Given the description of an element on the screen output the (x, y) to click on. 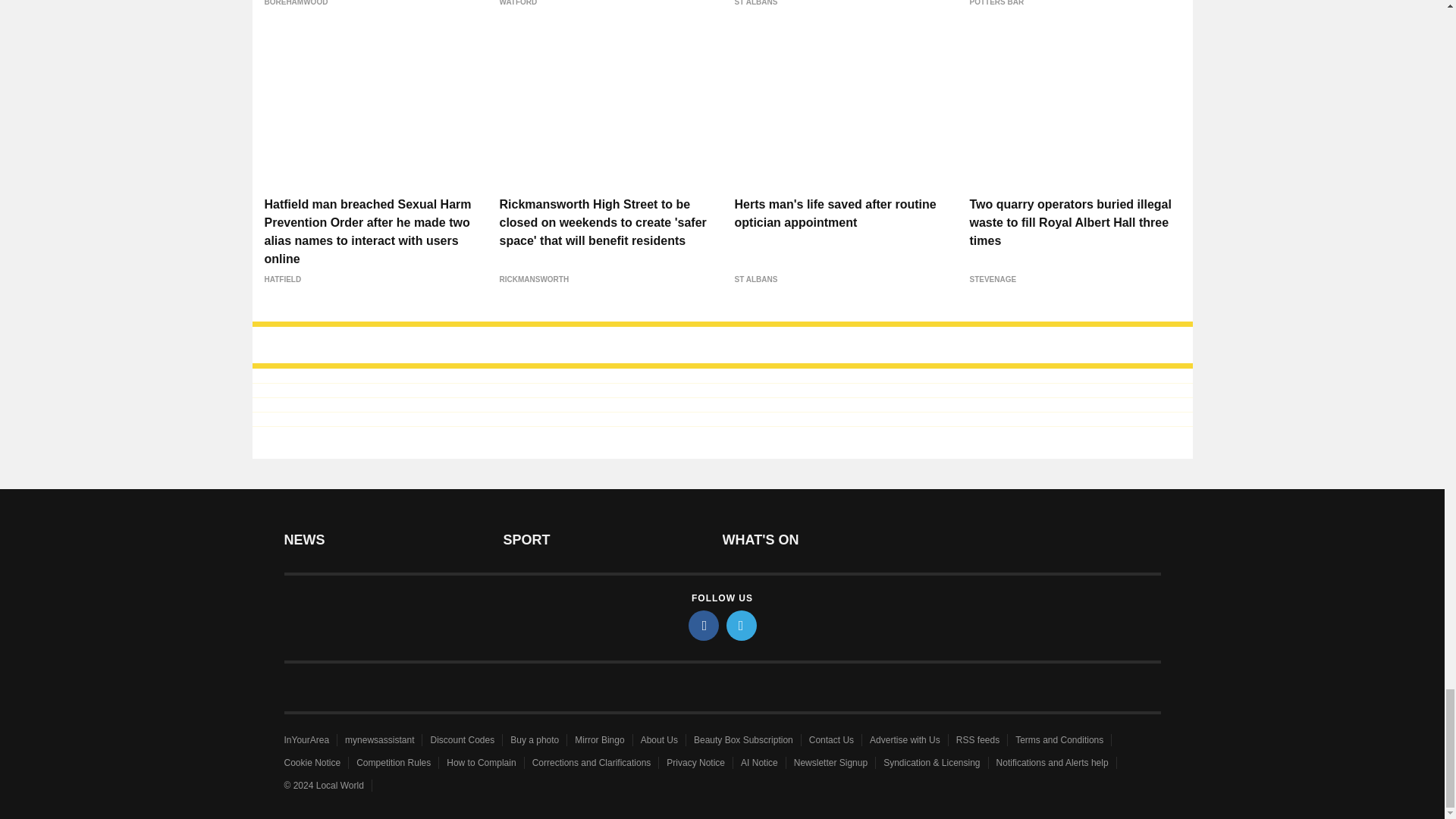
twitter (741, 625)
facebook (703, 625)
